Given the description of an element on the screen output the (x, y) to click on. 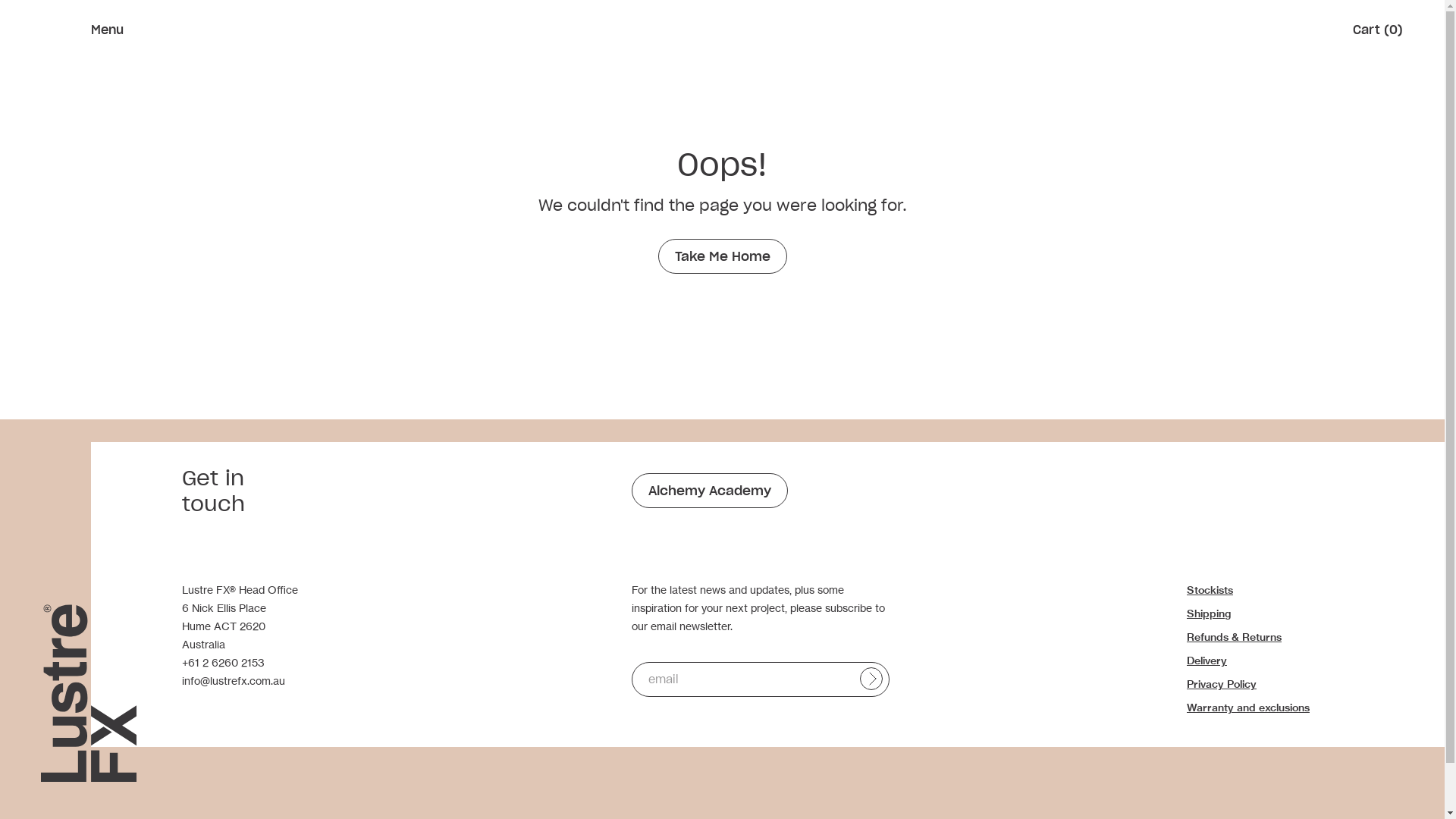
Shipping Element type: text (1208, 613)
Refunds & Returns Element type: text (1233, 636)
Take Me Home Element type: text (722, 255)
Warranty and exclusions Element type: text (1247, 707)
Delivery Element type: text (1206, 660)
+61 2 6260 2153 Element type: text (223, 661)
Alchemy Academy Element type: text (708, 490)
info@lustrefx.com.au Element type: text (233, 680)
Privacy Policy Element type: text (1221, 683)
Stockists Element type: text (1209, 589)
